Given the description of an element on the screen output the (x, y) to click on. 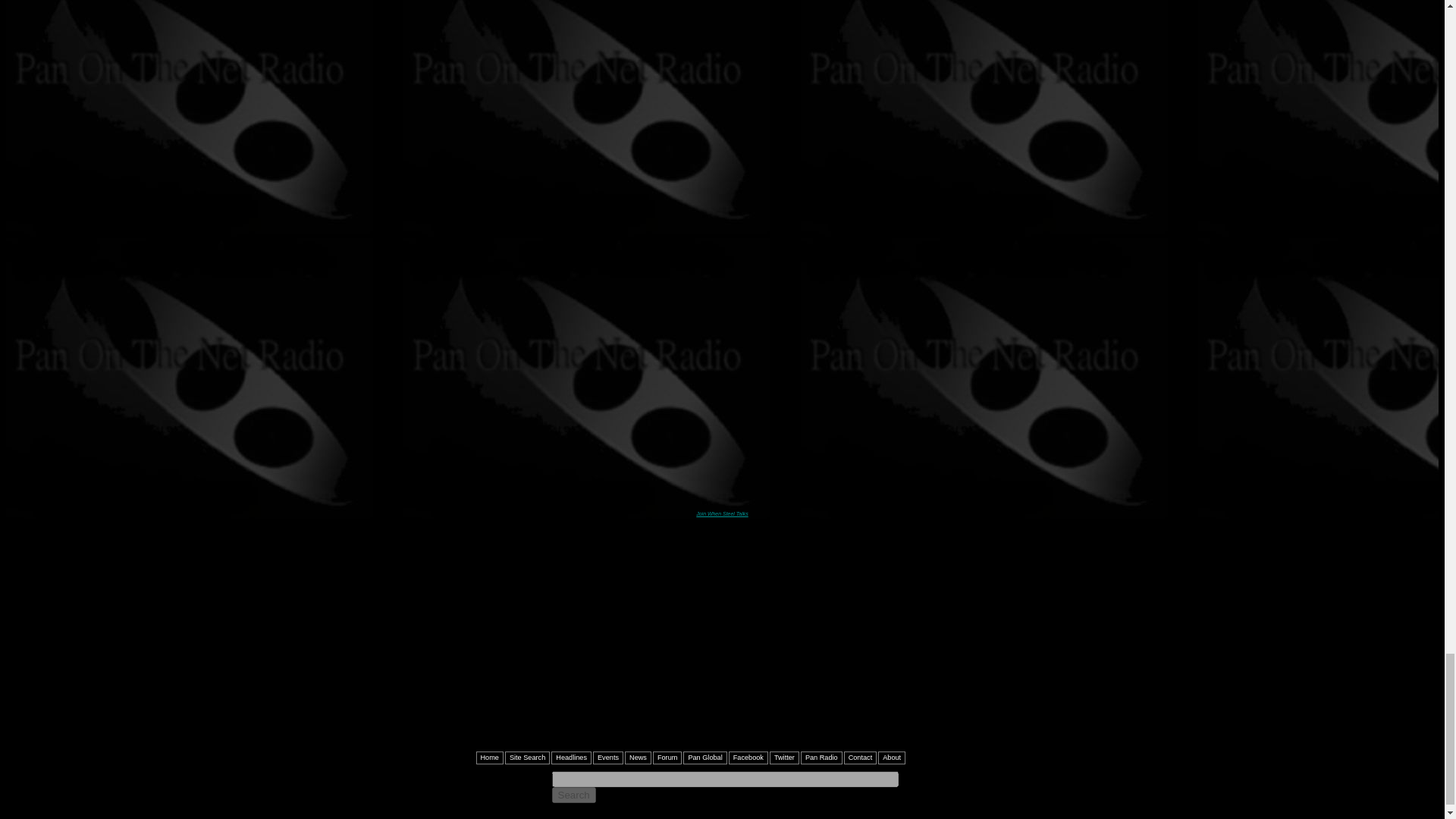
Search (573, 795)
Home (489, 757)
Forum (666, 757)
Events (607, 757)
Pan Global (704, 757)
News (637, 757)
Join When Steel Talks (721, 513)
Headlines (571, 757)
Site Search (527, 757)
